Given the description of an element on the screen output the (x, y) to click on. 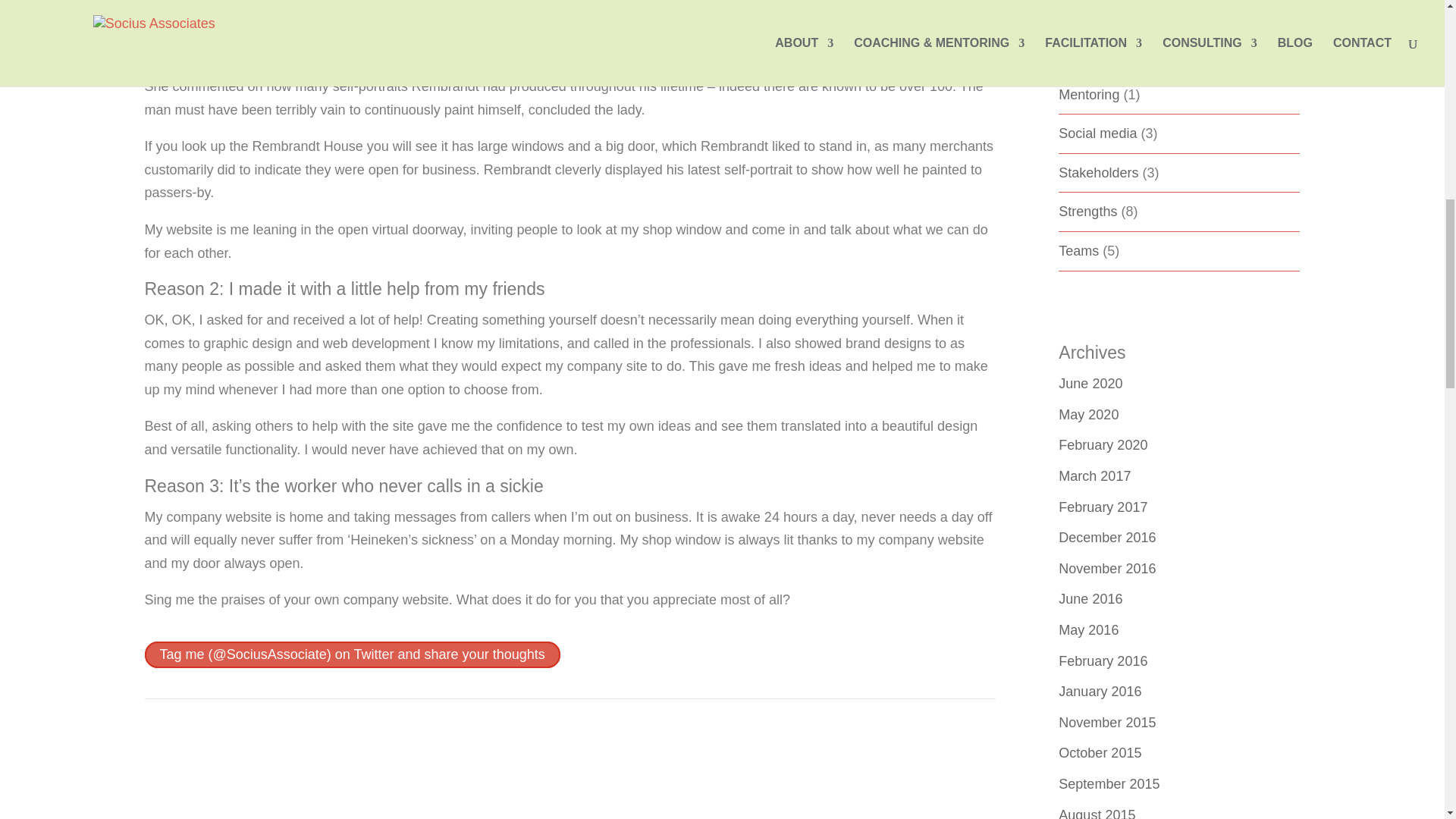
Leadership (1091, 15)
Social media (1097, 133)
Marketing (1088, 55)
Stakeholders (1098, 172)
Mentoring (1088, 94)
